Given the description of an element on the screen output the (x, y) to click on. 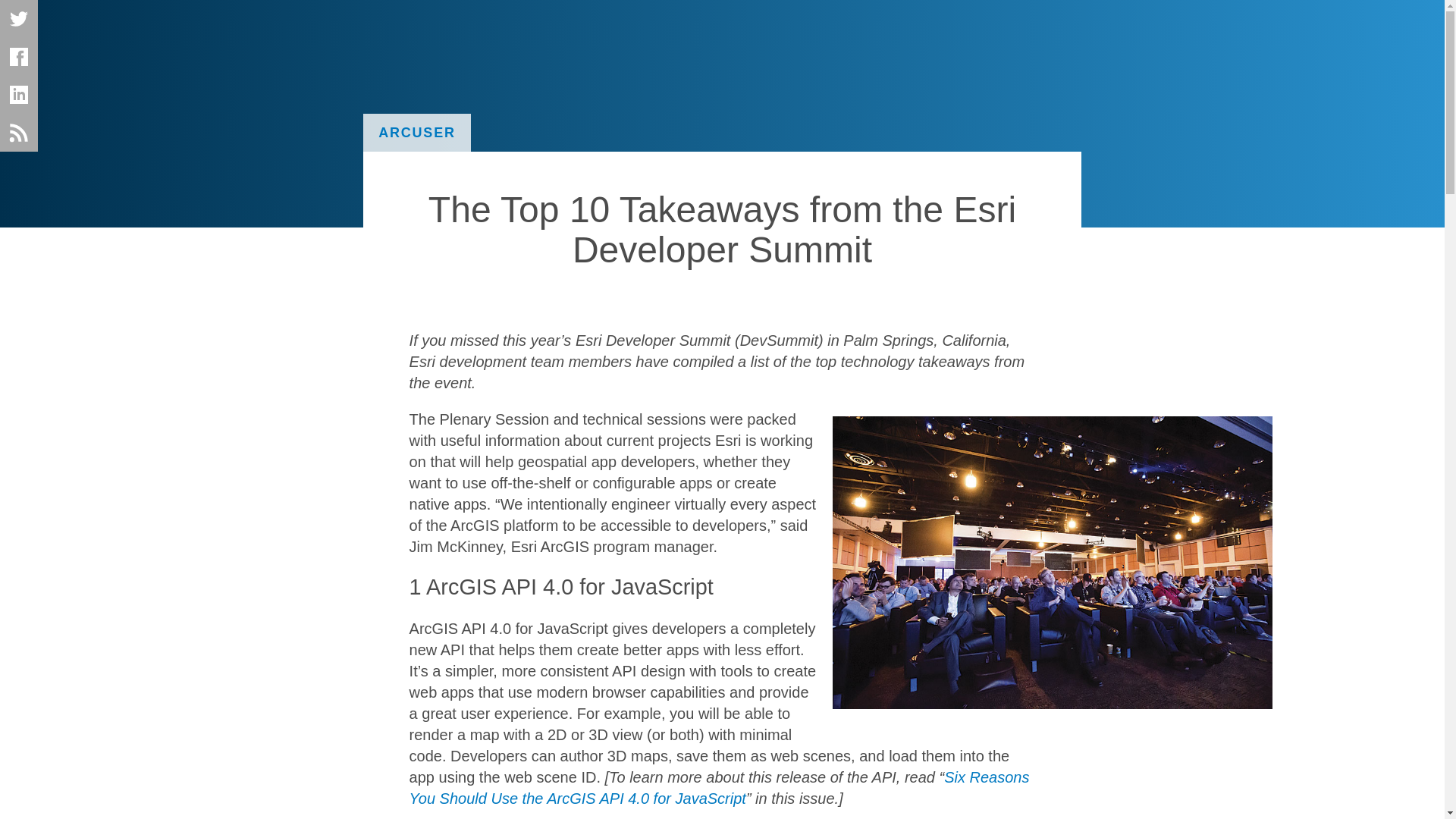
Six Reasons You Should Use the ArcGIS API 4.0 for JavaScript (719, 787)
ARCUSER (416, 132)
